Given the description of an element on the screen output the (x, y) to click on. 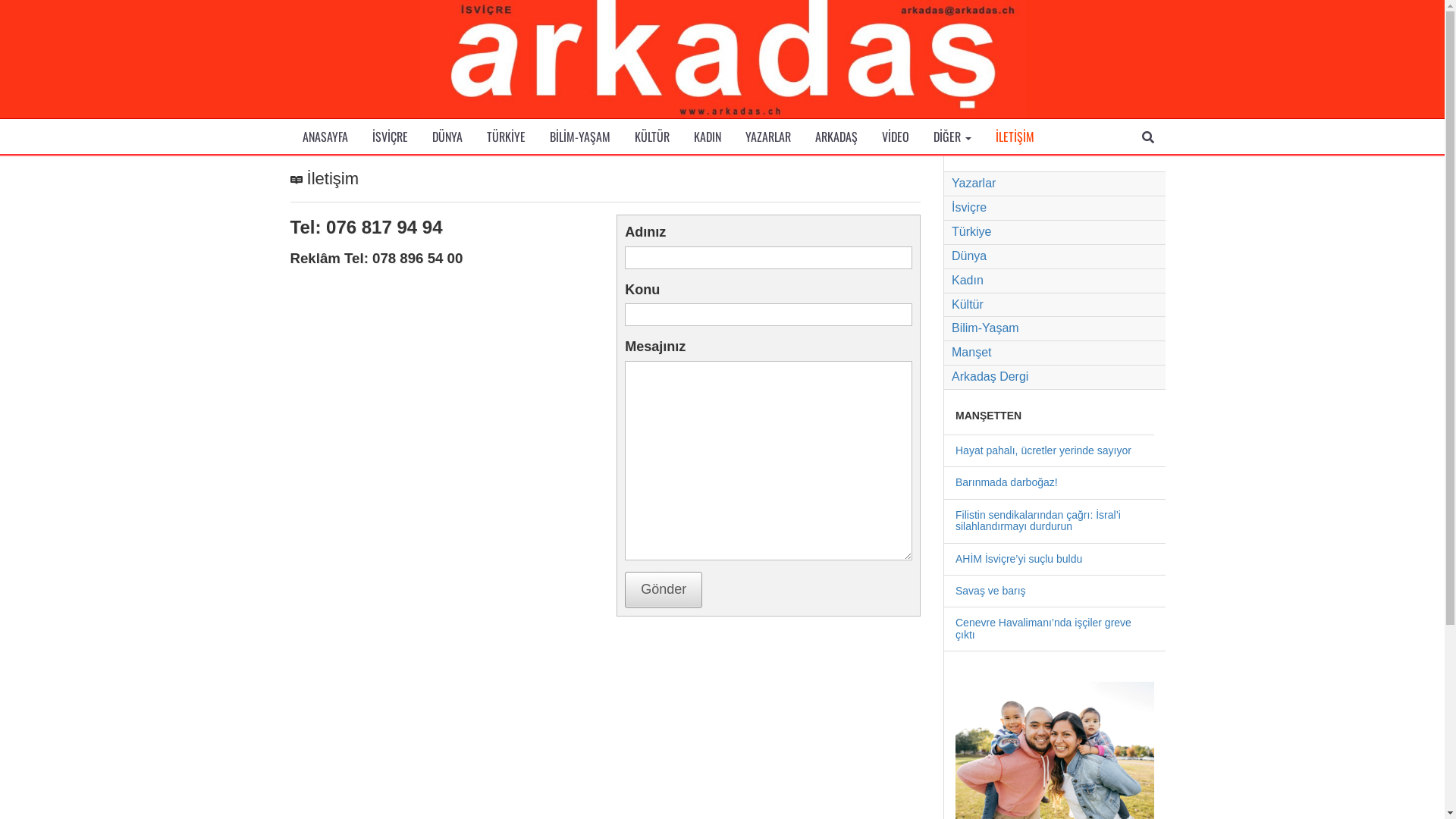
YAZARLAR Element type: text (767, 136)
VIDEO Element type: text (894, 136)
KADIN Element type: text (706, 136)
Arkadas Element type: hover (722, 59)
ANASAYFA Element type: text (324, 136)
Yazarlar Element type: text (1054, 183)
